Given the description of an element on the screen output the (x, y) to click on. 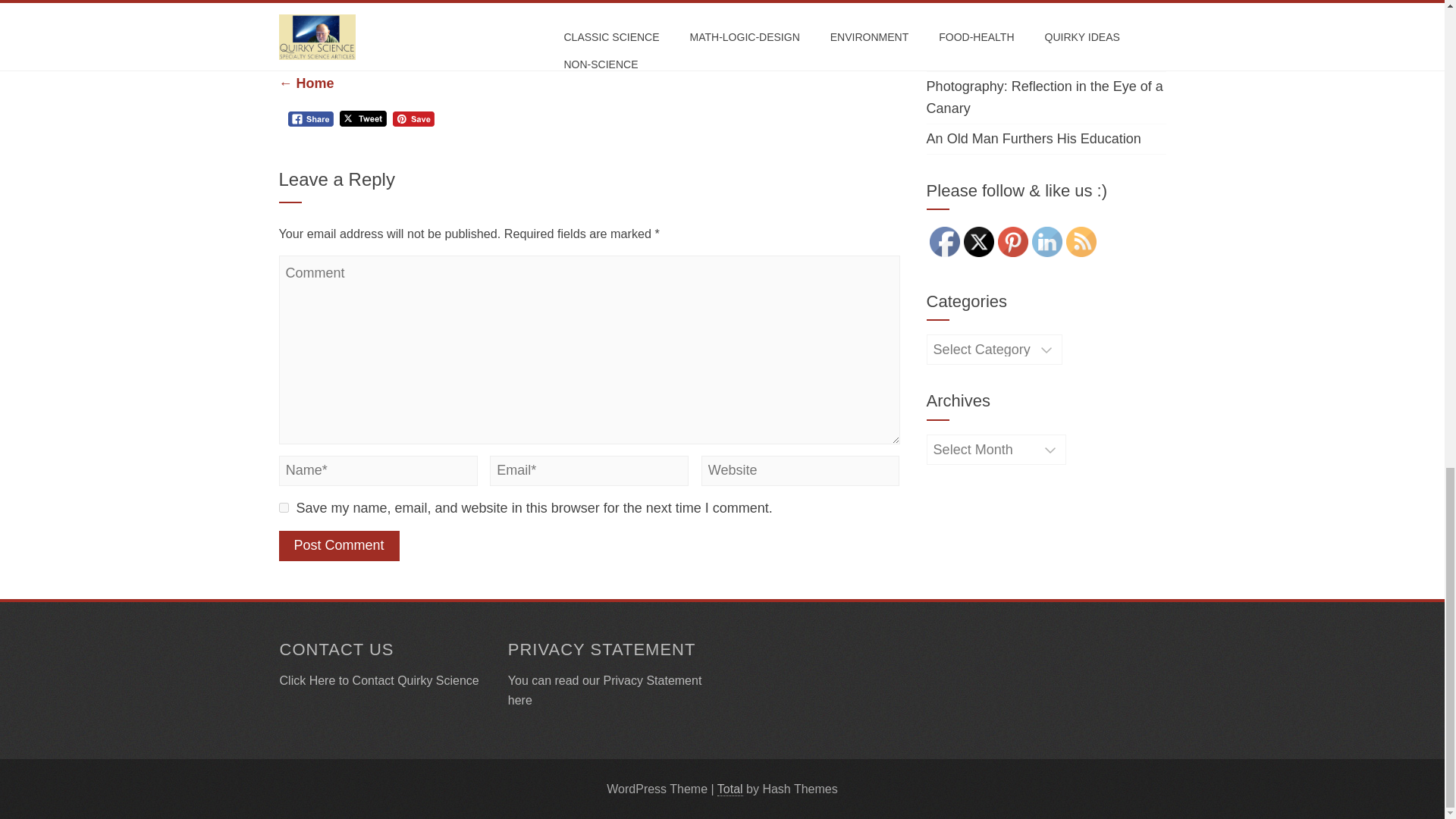
Bracken Ferns: How Toxic to Grazing Farm Animals? (1038, 6)
Twitter (978, 241)
Pinterest (1012, 241)
Pin Share (413, 119)
Photography: Reflection in the Eye of a Canary (1044, 97)
Facebook (944, 241)
Post Comment (338, 545)
Facebook Share (311, 119)
Chocolate Alkaloid Theobromine (574, 49)
You can read our Privacy Statement here (604, 690)
Post Comment (338, 545)
An Old Man Furthers His Education (1033, 138)
Tweet (363, 118)
yes (283, 507)
Contact Quirky Science (415, 680)
